Given the description of an element on the screen output the (x, y) to click on. 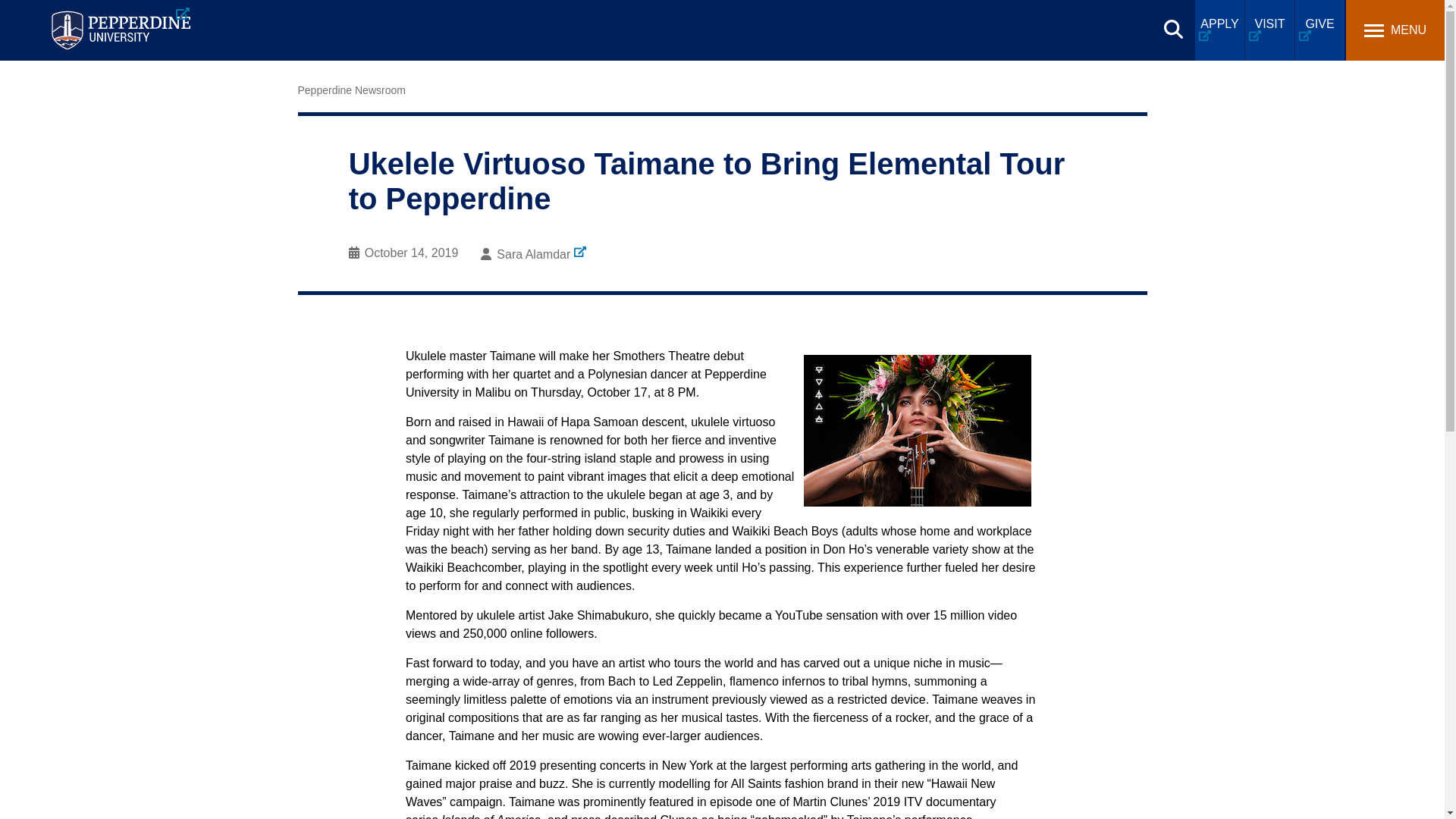
Submit (476, 19)
Pepperdine University (120, 30)
open search (1173, 28)
